Given the description of an element on the screen output the (x, y) to click on. 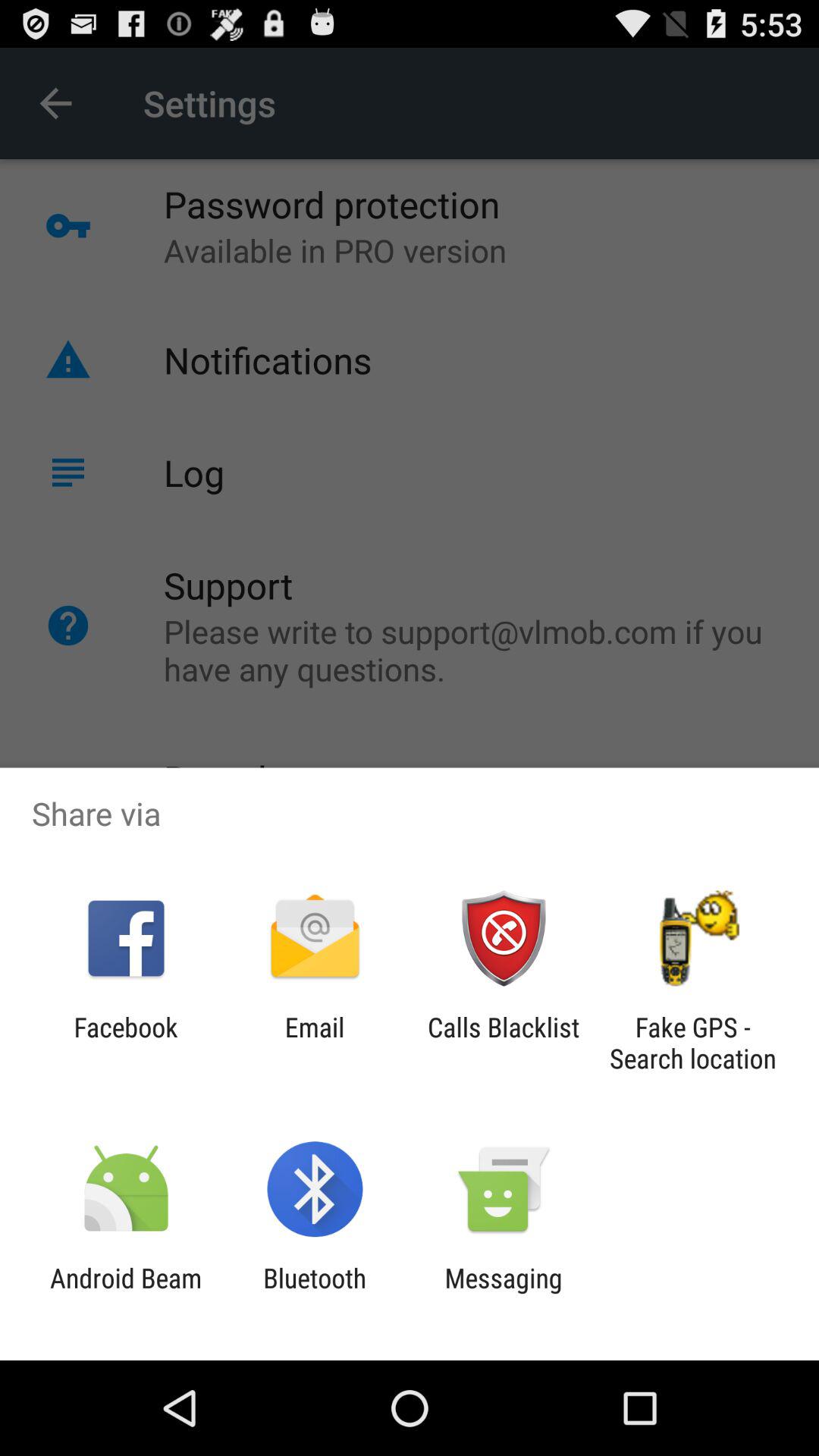
open the icon next to the calls blacklist item (314, 1042)
